Given the description of an element on the screen output the (x, y) to click on. 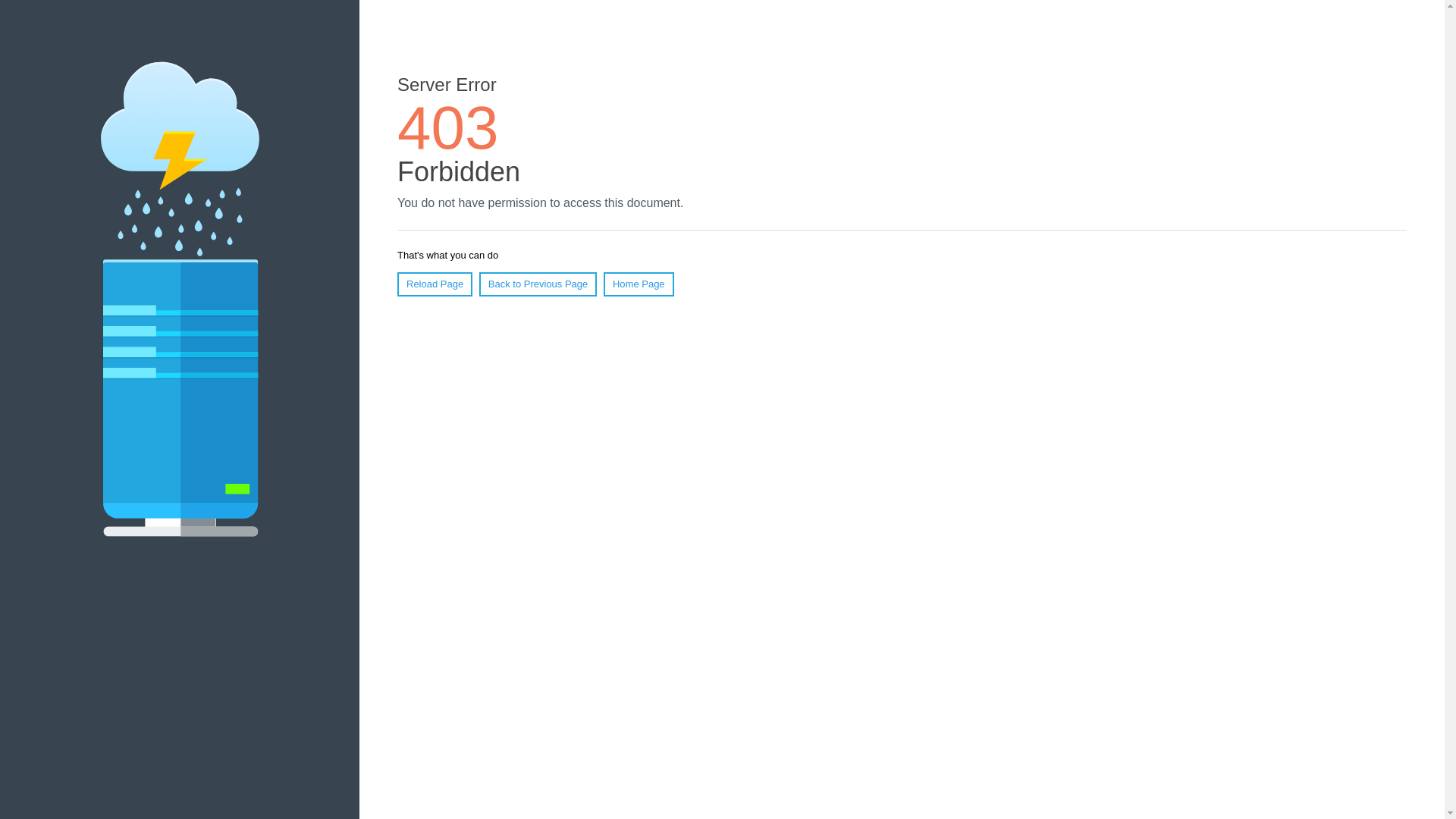
Home Page Element type: text (638, 284)
Back to Previous Page Element type: text (538, 284)
Reload Page Element type: text (434, 284)
